Given the description of an element on the screen output the (x, y) to click on. 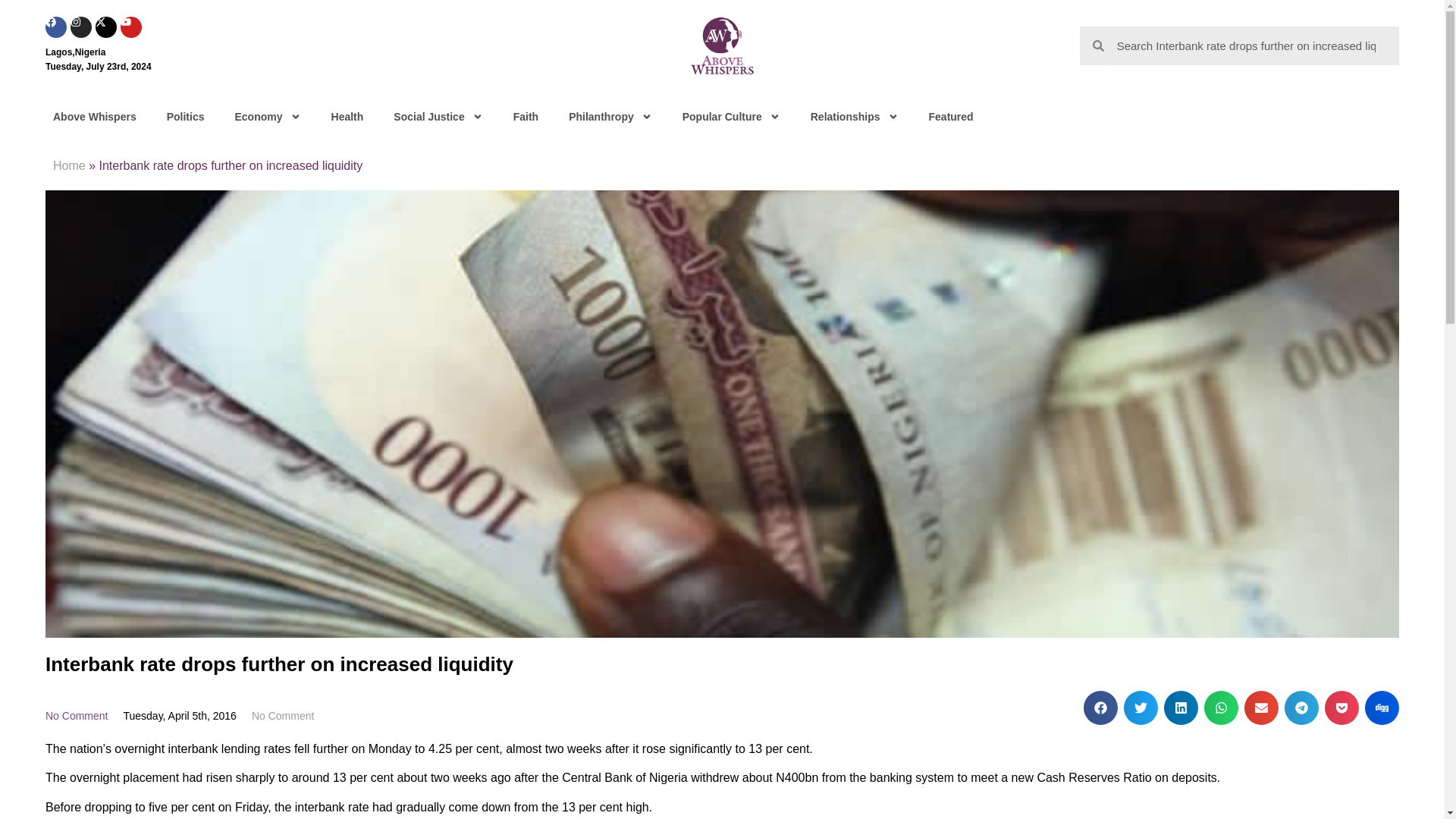
Health (346, 116)
Politics (185, 116)
Economy (267, 116)
Faith (525, 116)
Above Whispers (94, 116)
Relationships (854, 116)
Featured (951, 116)
Popular Culture (730, 116)
Social Justice (437, 116)
Philanthropy (609, 116)
